Given the description of an element on the screen output the (x, y) to click on. 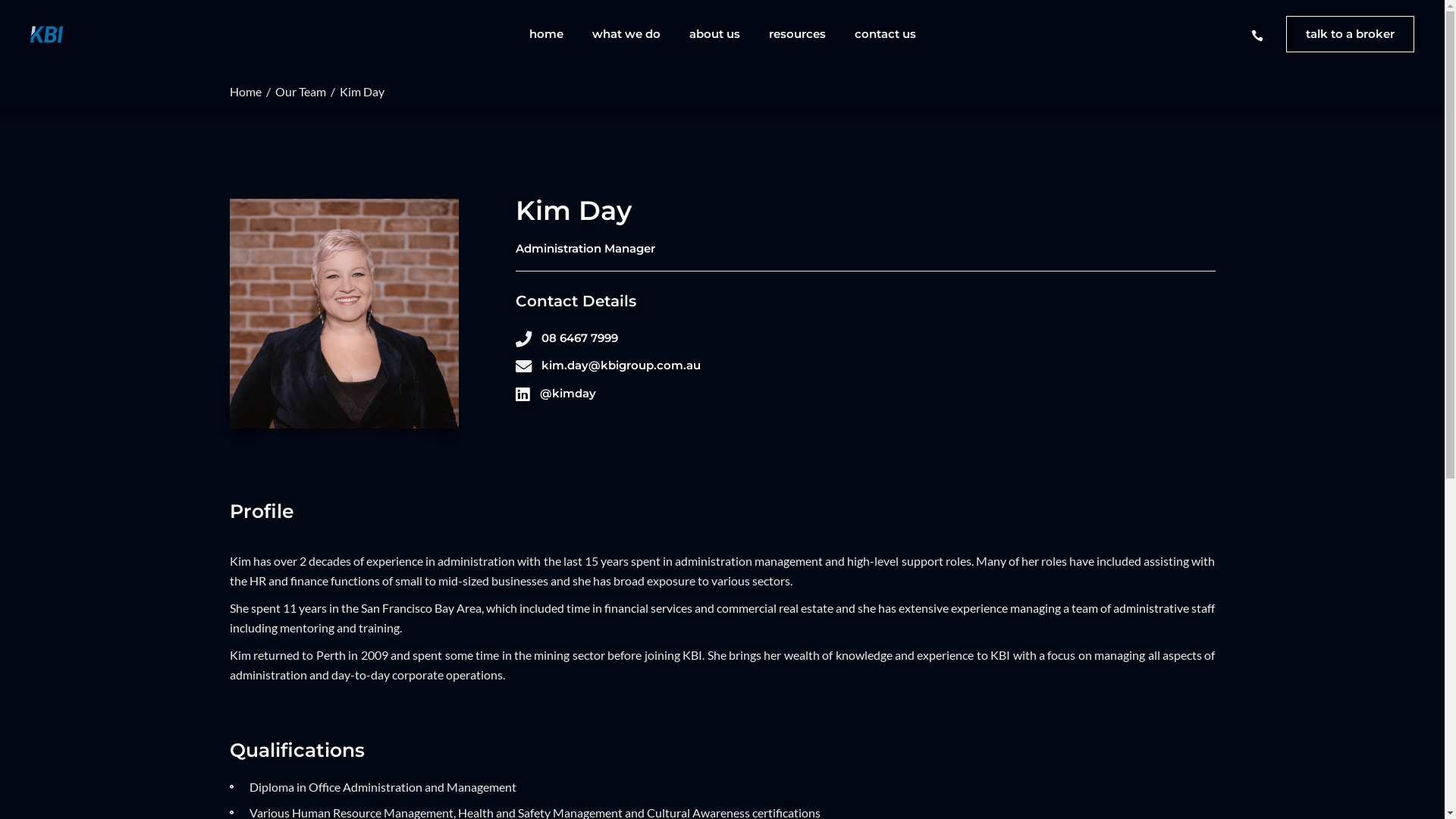
Home Element type: text (244, 91)
contact us Element type: text (885, 34)
talk to a broker Element type: text (1350, 33)
Our Team Element type: text (299, 91)
resources Element type: text (796, 34)
Kim Day KBI Element type: hover (343, 313)
home Element type: text (545, 34)
what we do Element type: text (625, 34)
@kimday Element type: text (567, 393)
about us Element type: text (714, 34)
